Given the description of an element on the screen output the (x, y) to click on. 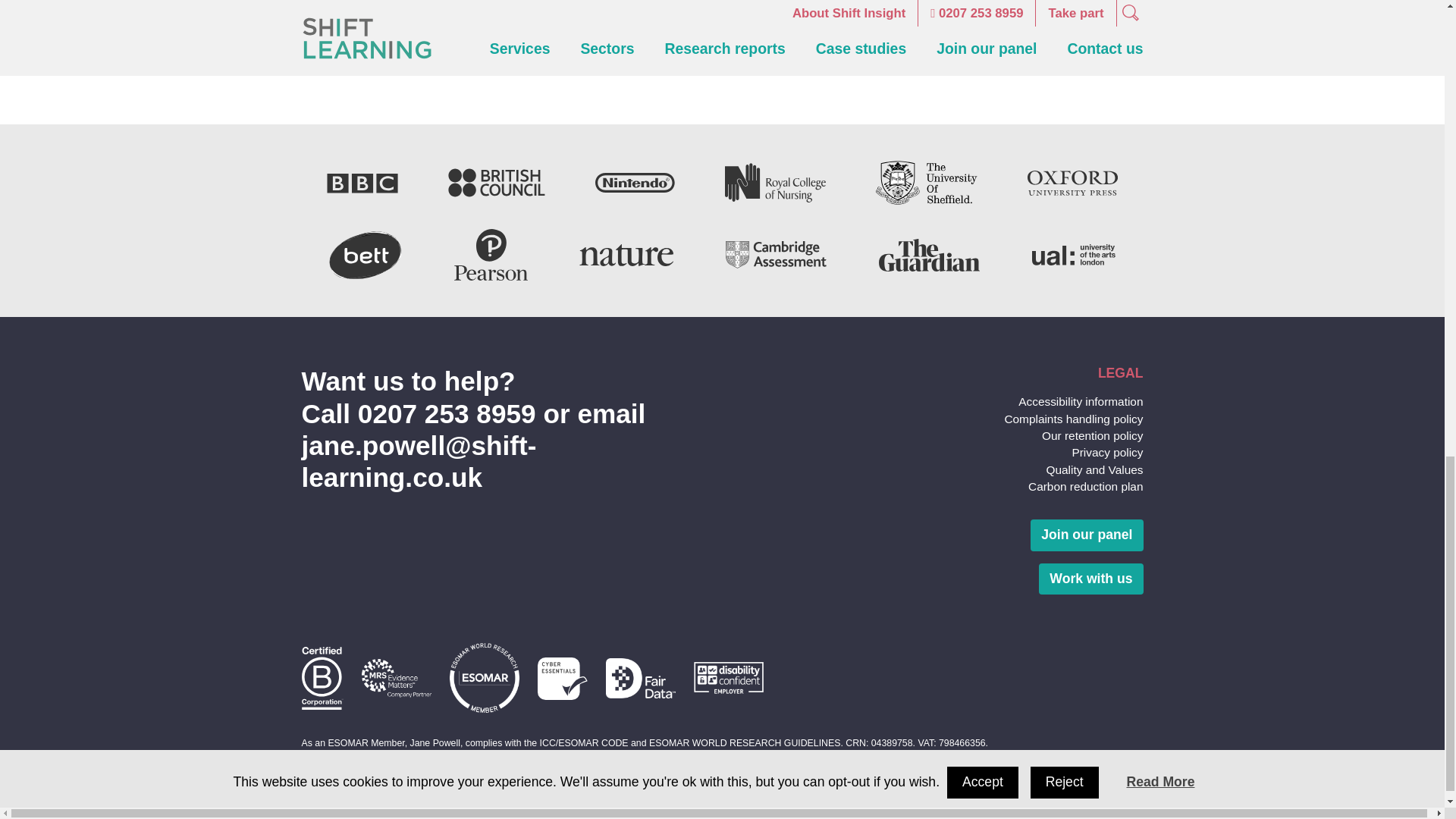
Work with us (1090, 579)
Complaints handling policy (1073, 418)
Our retention policy (1092, 435)
Carbon reduction plan (1084, 486)
Privacy policy (1106, 451)
Accessibility information (1079, 400)
Quality and Values (1093, 469)
View all Case Studies (722, 28)
Join our panel (1086, 535)
0207 253 8959 (446, 413)
